Given the description of an element on the screen output the (x, y) to click on. 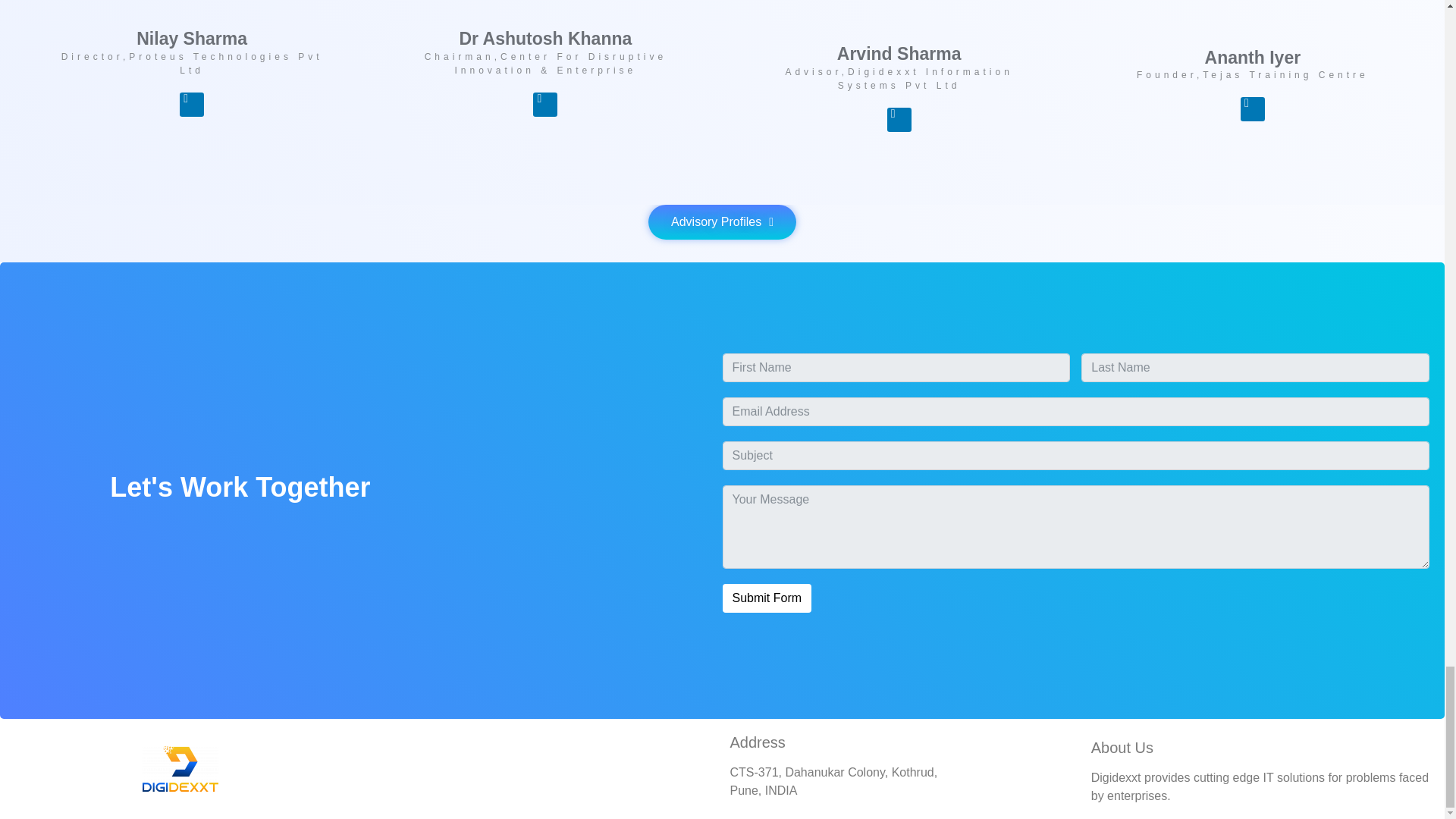
Ananth Iyer (1253, 57)
Dr Ashutosh Khanna (544, 38)
Submit Form (766, 597)
Advisory Profiles (721, 221)
Arvind Sharma (898, 53)
Digidexxt Logo (180, 768)
Nilay Sharma (191, 38)
